Given the description of an element on the screen output the (x, y) to click on. 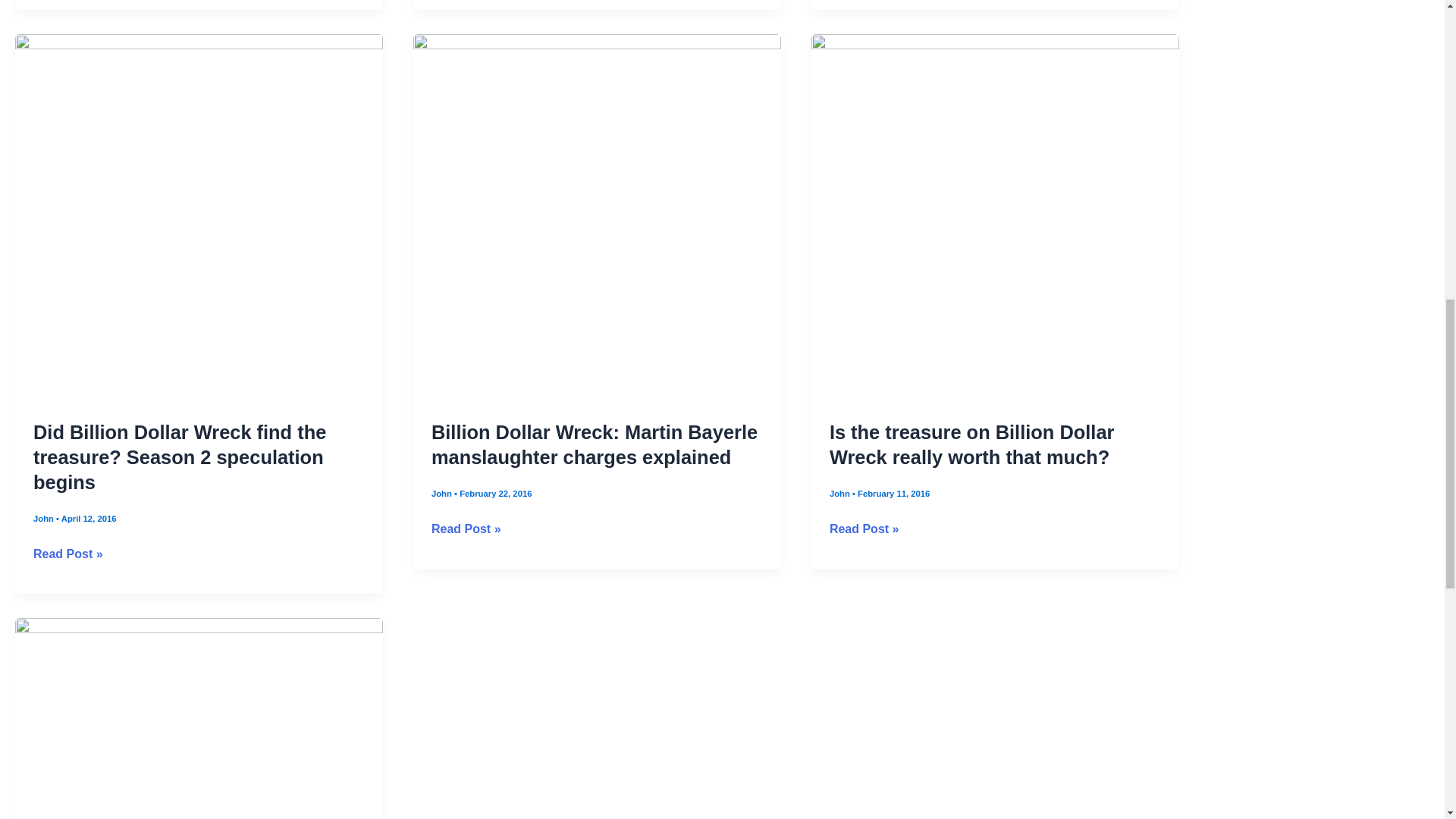
View all posts by John (840, 492)
View all posts by John (44, 518)
View all posts by John (442, 492)
